Given the description of an element on the screen output the (x, y) to click on. 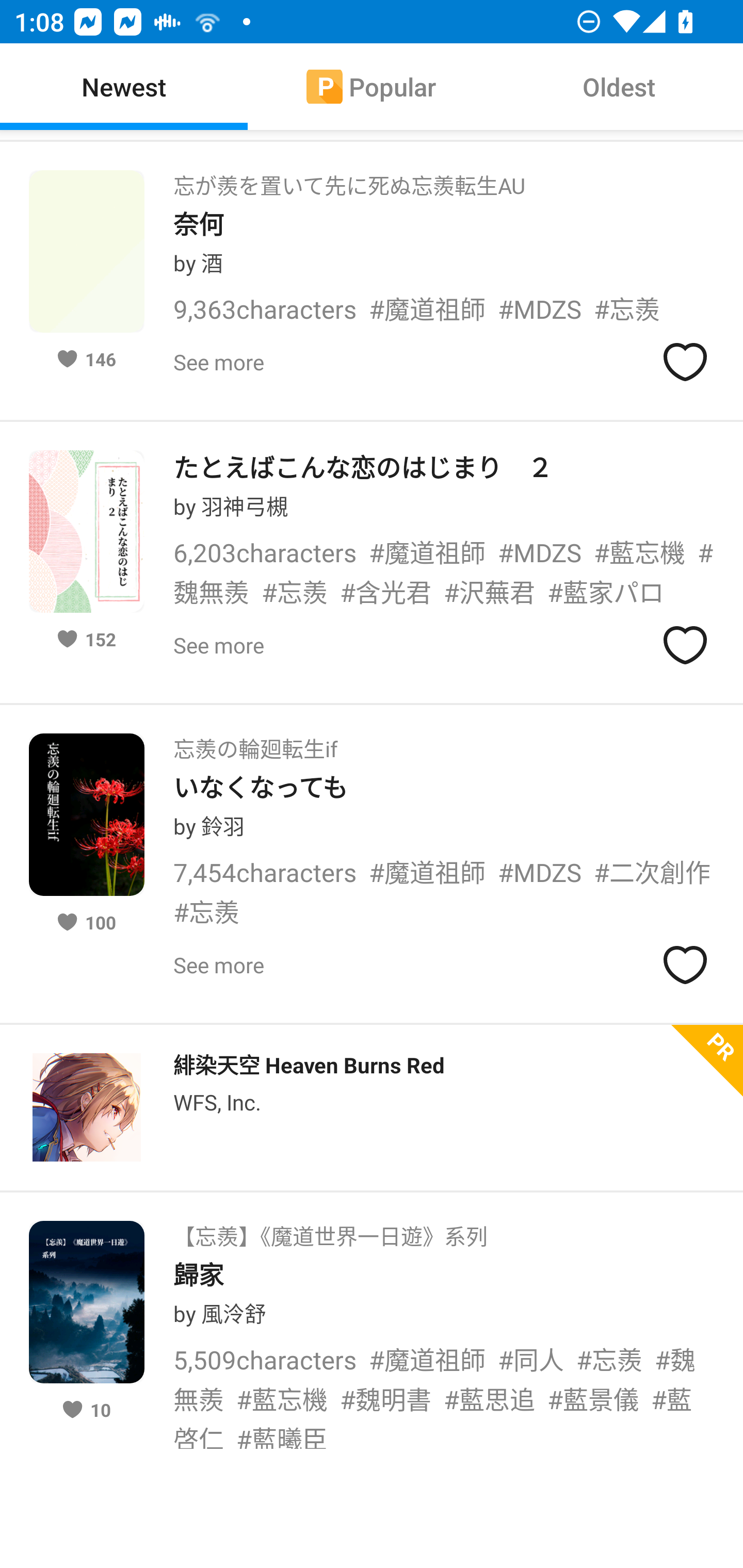
[P] Popular (371, 86)
Oldest (619, 86)
忘が羨を置いて先に死ぬ忘羨転生AU (349, 179)
忘羨の輪廻転生if (255, 742)
緋染天空 Heaven Burns Red WFS, Inc. (371, 1106)
【忘羨】《魔道世界一日遊》系列 (330, 1229)
